Given the description of an element on the screen output the (x, y) to click on. 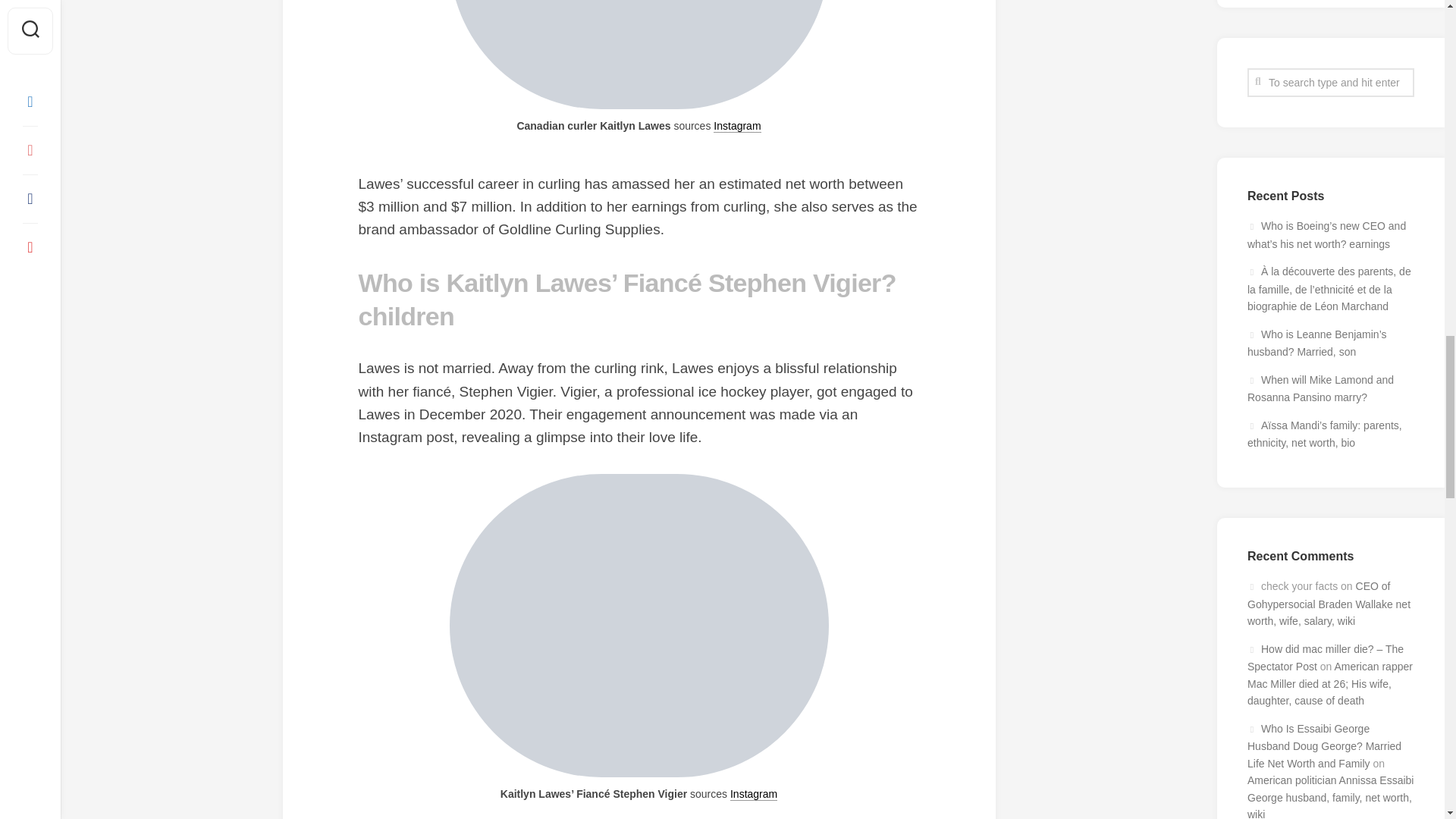
To search type and hit enter (1330, 82)
To search type and hit enter (1330, 82)
